Given the description of an element on the screen output the (x, y) to click on. 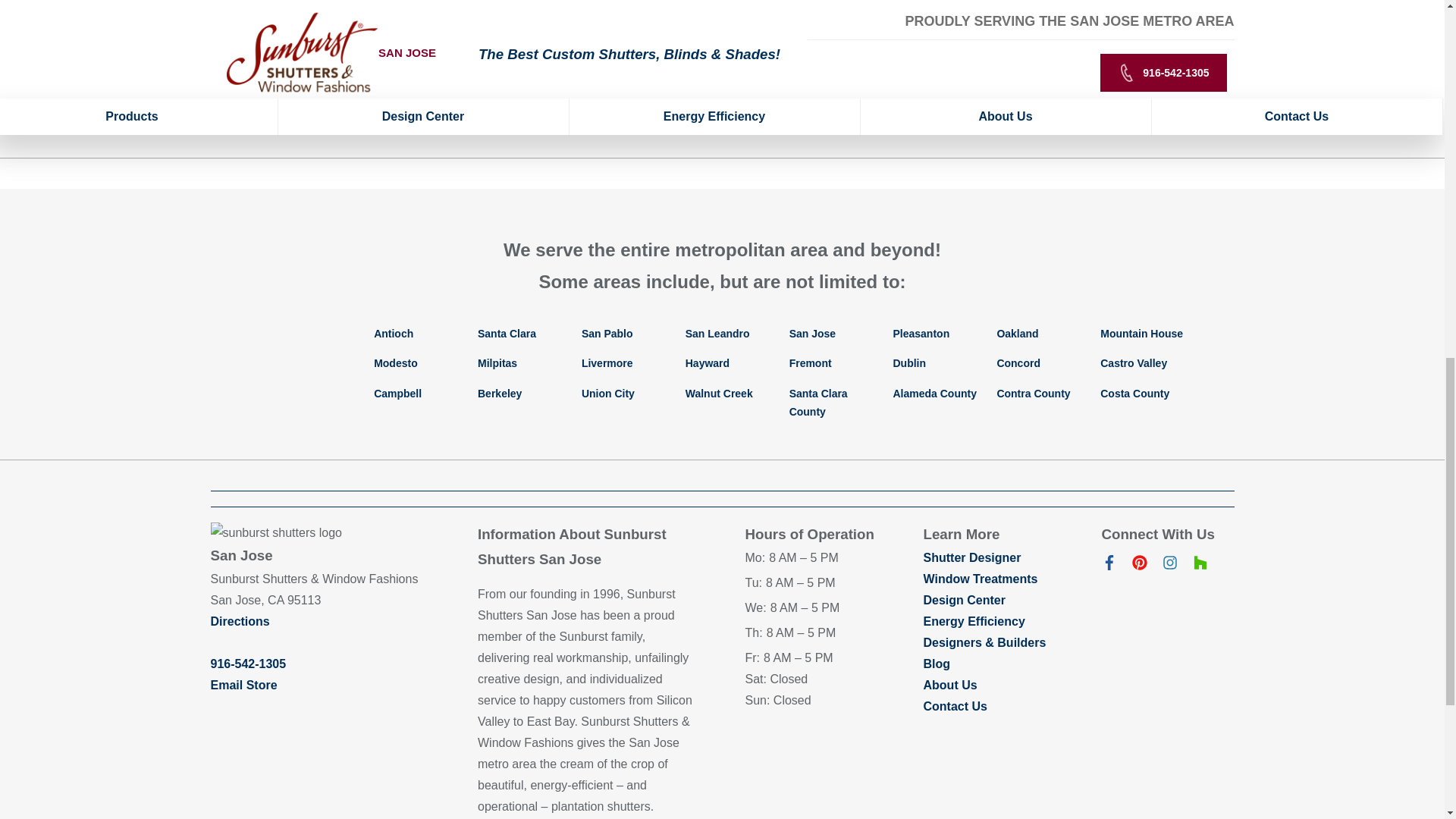
Like us on Facebook (1108, 565)
Save us on Houzz (1199, 565)
Follow us on Instagram (1168, 565)
Follow us on Pinterest (1139, 565)
